Given the description of an element on the screen output the (x, y) to click on. 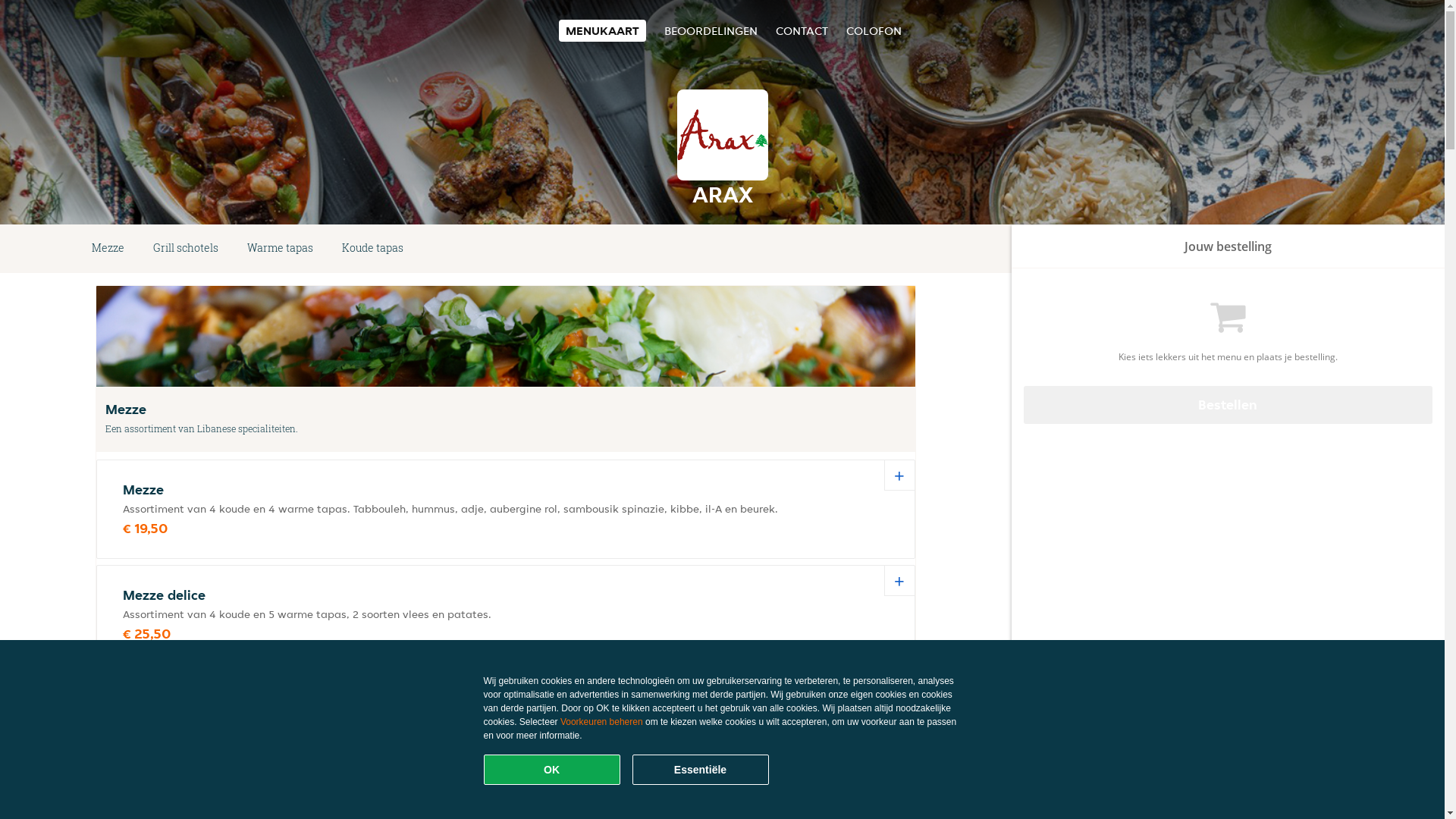
COLOFON Element type: text (873, 30)
MENUKAART Element type: text (601, 30)
Bestellen Element type: text (1228, 404)
Voorkeuren beheren Element type: text (601, 721)
Koude tapas Element type: text (372, 248)
OK Element type: text (551, 769)
BEOORDELINGEN Element type: text (710, 30)
Mezze Element type: text (107, 248)
Grill schotels Element type: text (185, 248)
Warme tapas Element type: text (279, 248)
CONTACT Element type: text (801, 30)
